Given the description of an element on the screen output the (x, y) to click on. 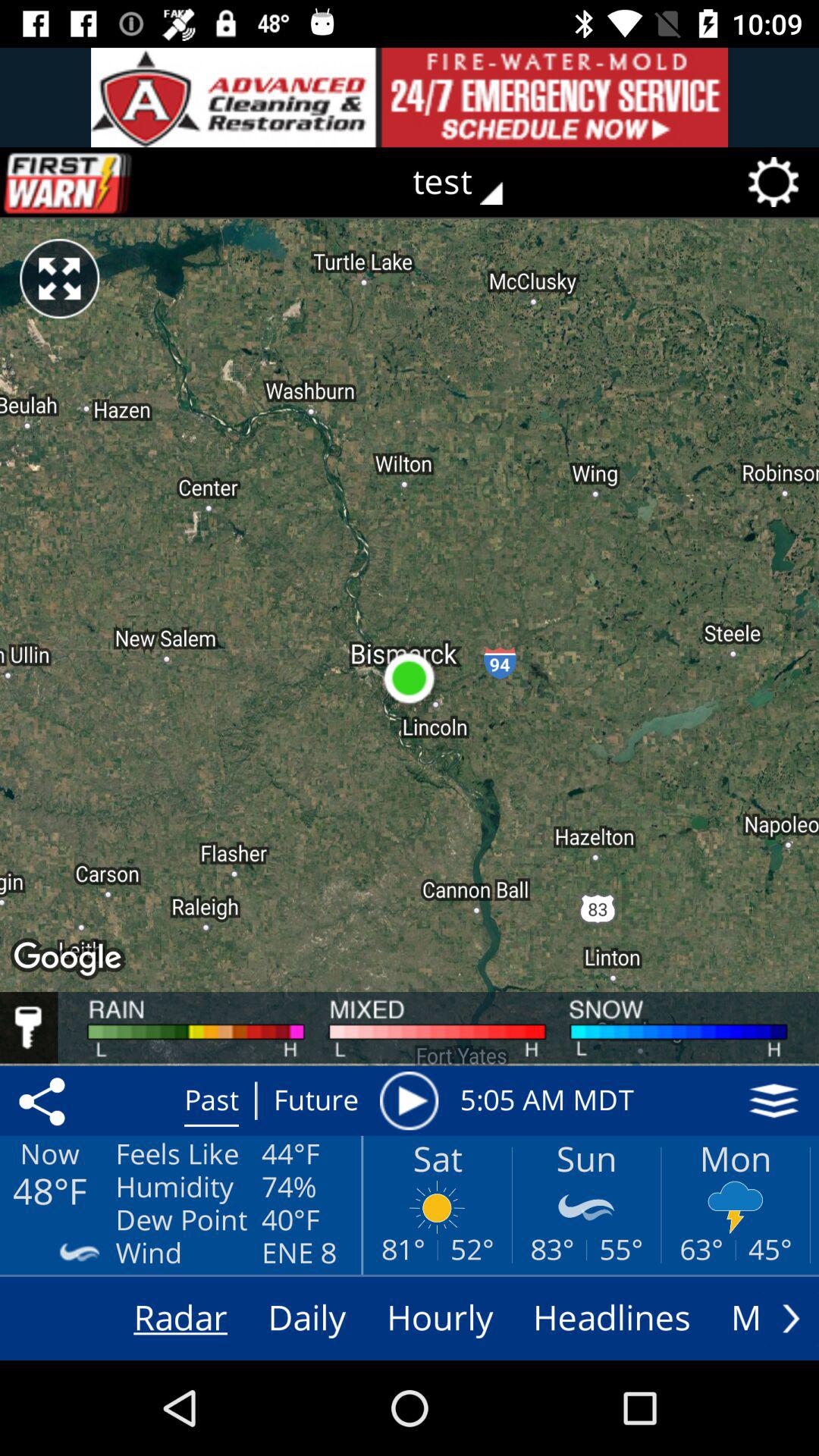
share link (44, 1100)
